Given the description of an element on the screen output the (x, y) to click on. 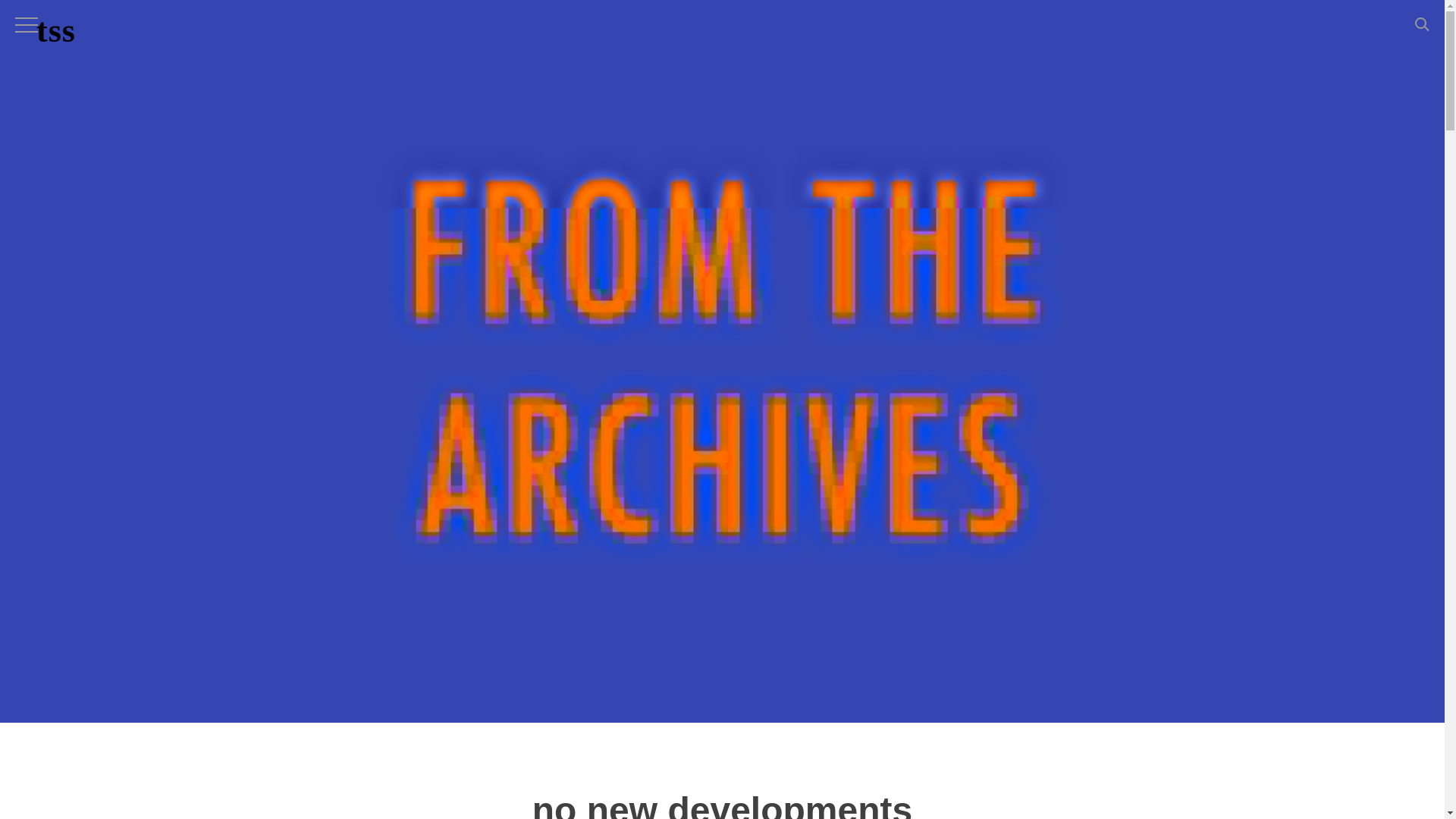
support the smart set (181, 570)
t s s (53, 37)
Subscribe (886, 668)
contact us (140, 690)
contributors (146, 650)
submissions (149, 610)
